Given the description of an element on the screen output the (x, y) to click on. 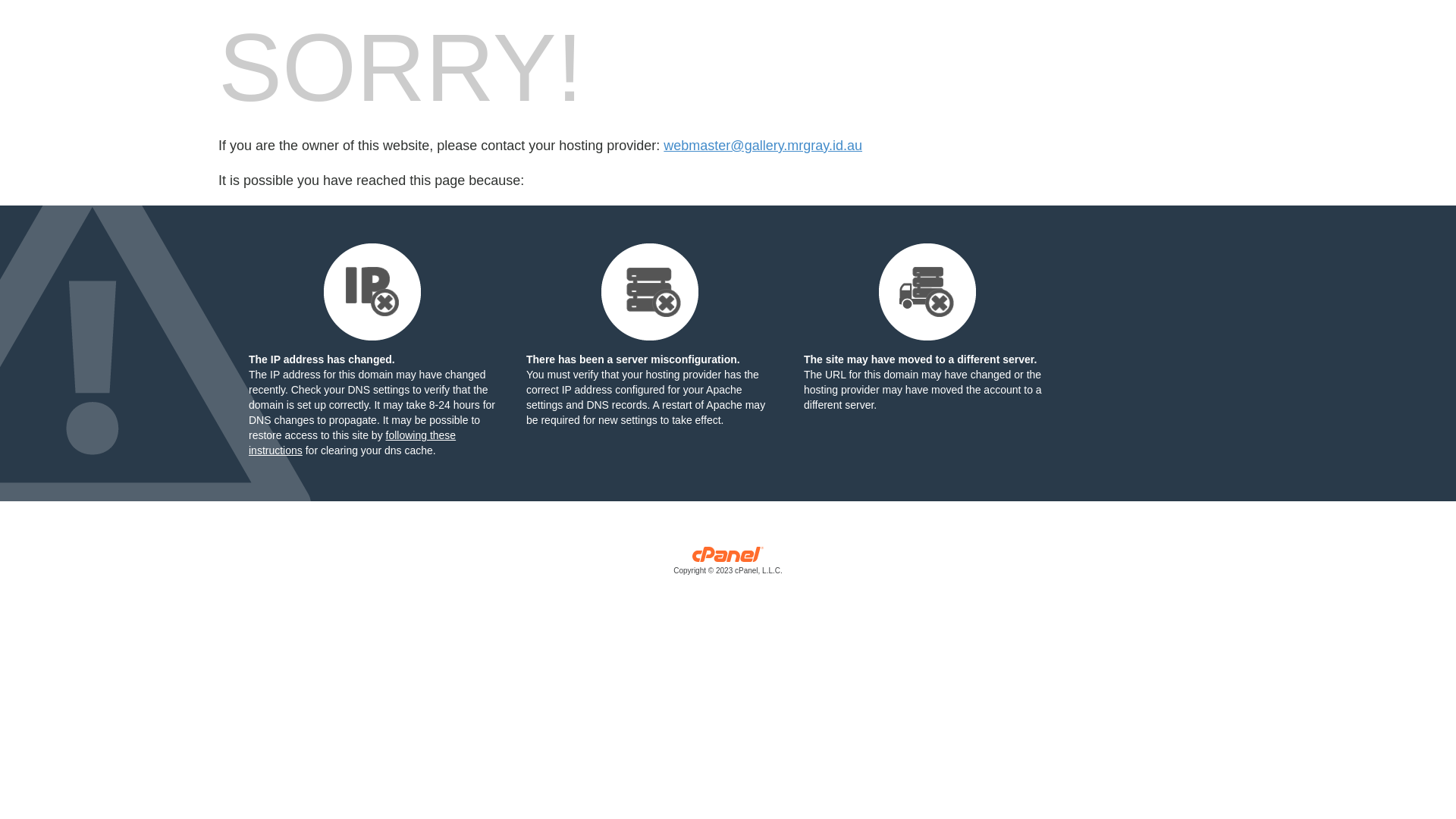
following these instructions Element type: text (351, 442)
webmaster@gallery.mrgray.id.au Element type: text (762, 145)
